Given the description of an element on the screen output the (x, y) to click on. 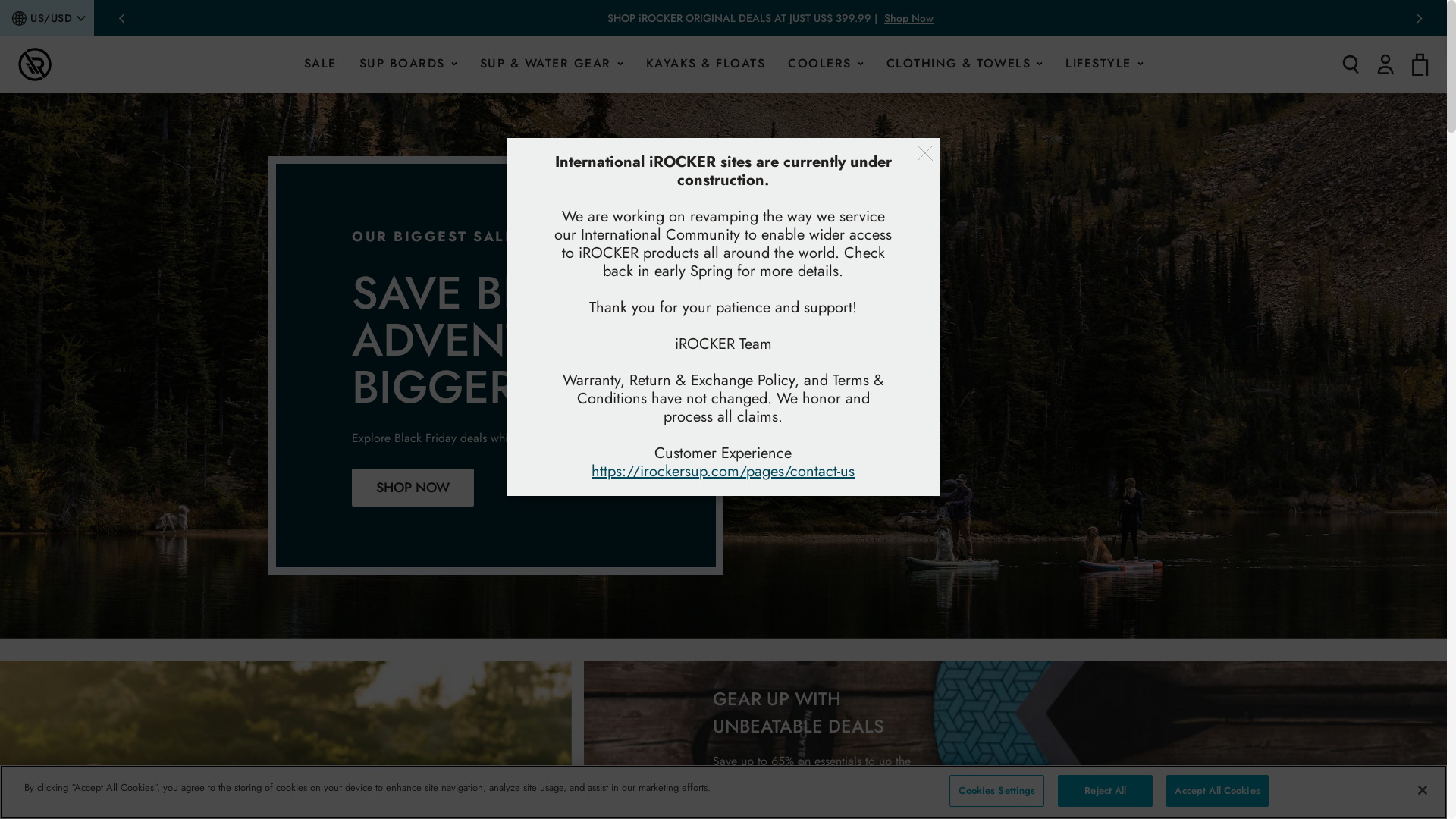
Search toggle Element type: text (1350, 64)
Cookies Settings Element type: text (996, 790)
COOLERS Element type: text (825, 64)
CLOTHING & TOWELS Element type: text (963, 64)
SUP BOARDS Element type: text (408, 64)
US/USD Element type: text (52, 18)
Reject All Element type: text (1104, 790)
Accept All Cookies Element type: text (1216, 790)
iROCKER US Element type: text (34, 64)
Prev Element type: text (121, 18)
https://irockersup.com/pages/contact-us Element type: text (722, 471)
SALE Element type: text (319, 64)
KAYAKS & FLOATS Element type: text (705, 64)
SHOP NOW Element type: text (412, 487)
Login Element type: text (1385, 64)
LIFESTYLE Element type: text (1104, 64)
Next Element type: text (1419, 18)
SUP & WATER GEAR Element type: text (550, 64)
